Given the description of an element on the screen output the (x, y) to click on. 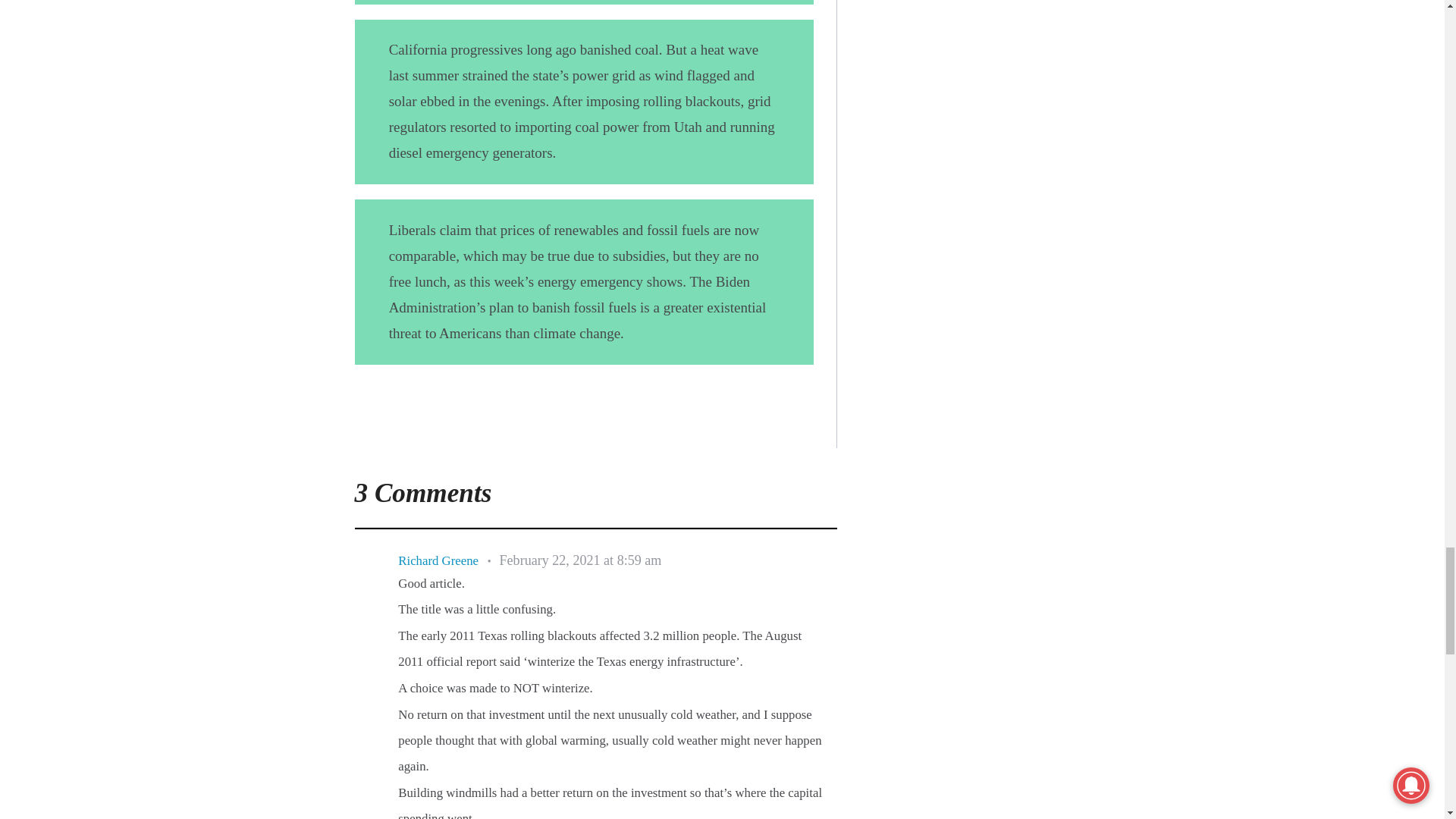
February 22, 2021 at 8:59 am (580, 560)
Richard Greene (438, 560)
